Given the description of an element on the screen output the (x, y) to click on. 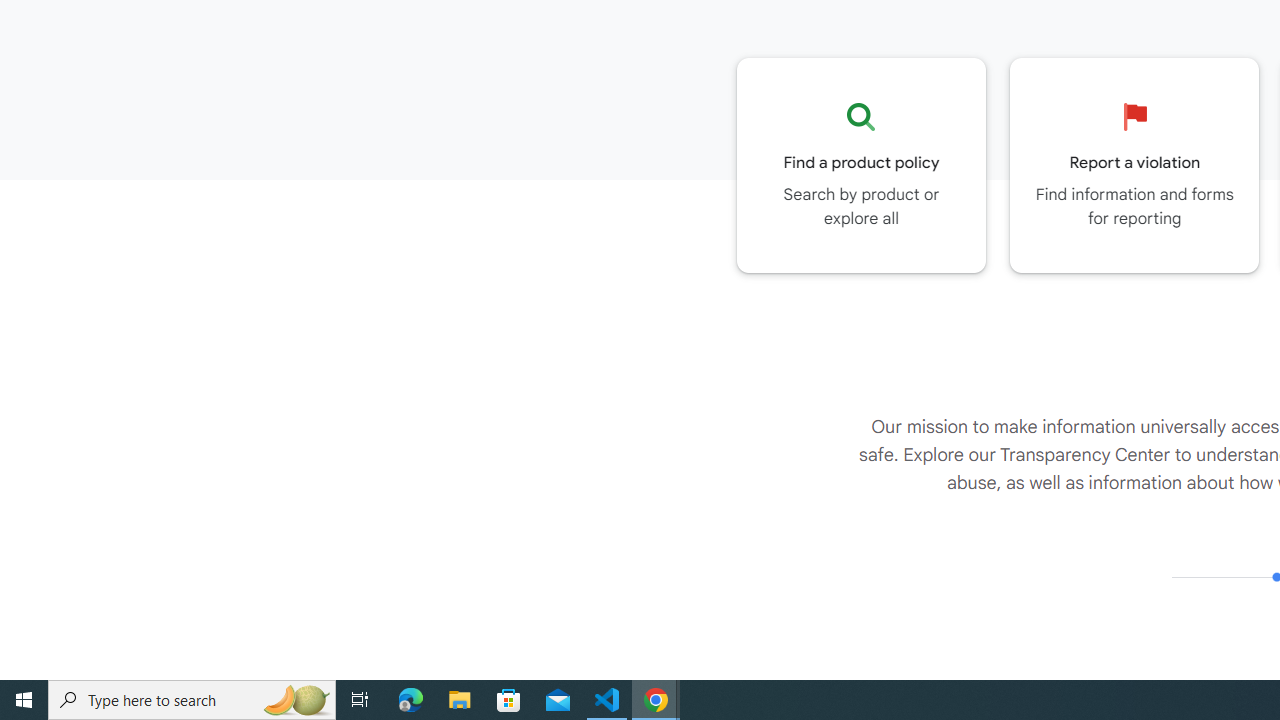
Go to the Reporting and appeals page (1134, 165)
Go to the Product policy page (861, 165)
